Given the description of an element on the screen output the (x, y) to click on. 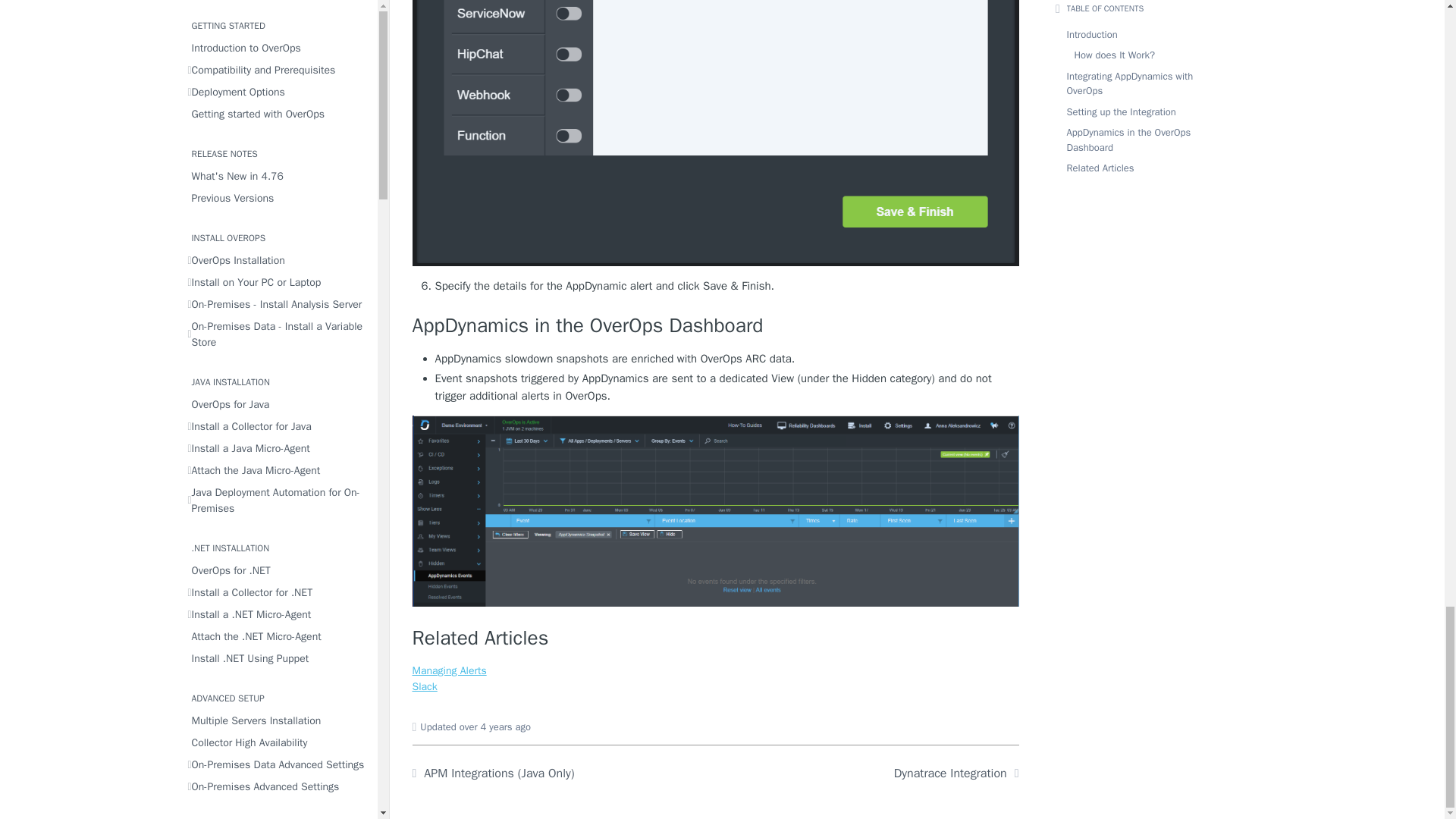
appdynamic-events.PNG (715, 510)
Related Articles (715, 638)
AppDynamics in the OverOps Dashboard (715, 326)
